Given the description of an element on the screen output the (x, y) to click on. 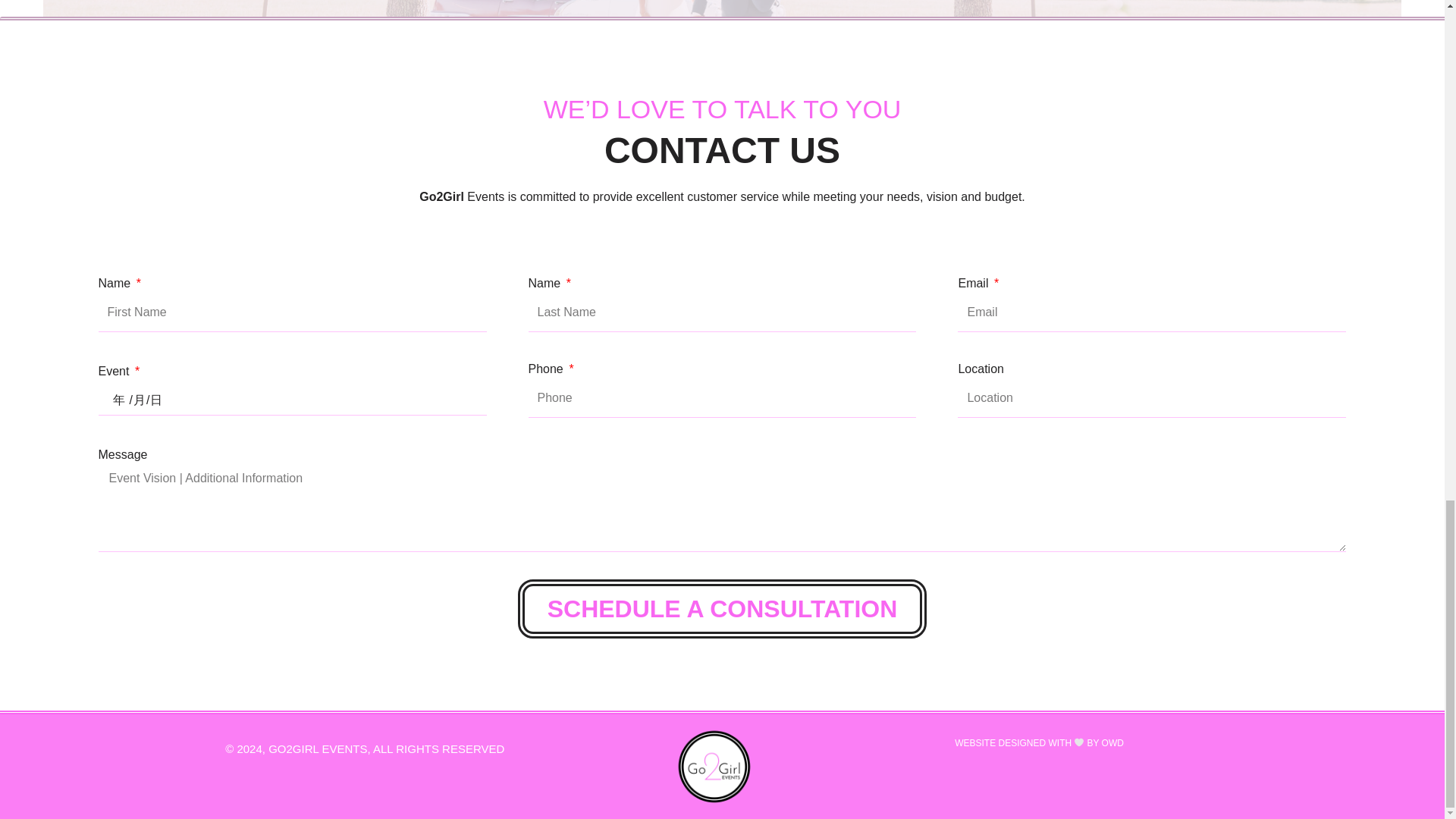
SCHEDULE A CONSULTATION (722, 608)
WEBSITE DESIGNED WITH BY OWD (1039, 742)
